Given the description of an element on the screen output the (x, y) to click on. 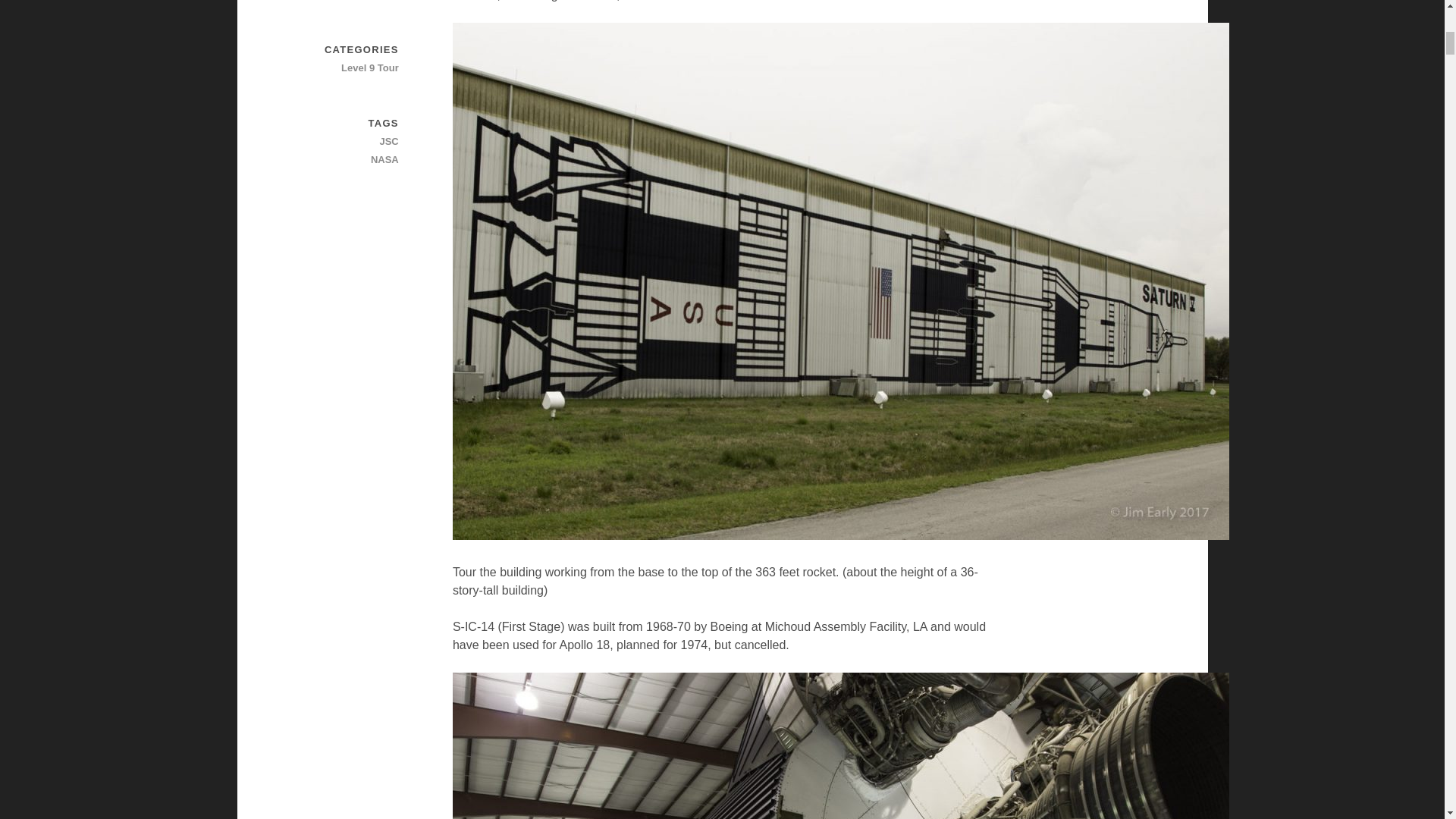
View all posts in Level 9 Tour (344, 67)
View all posts tagged JSC (344, 141)
View all posts tagged NASA (344, 159)
